Given the description of an element on the screen output the (x, y) to click on. 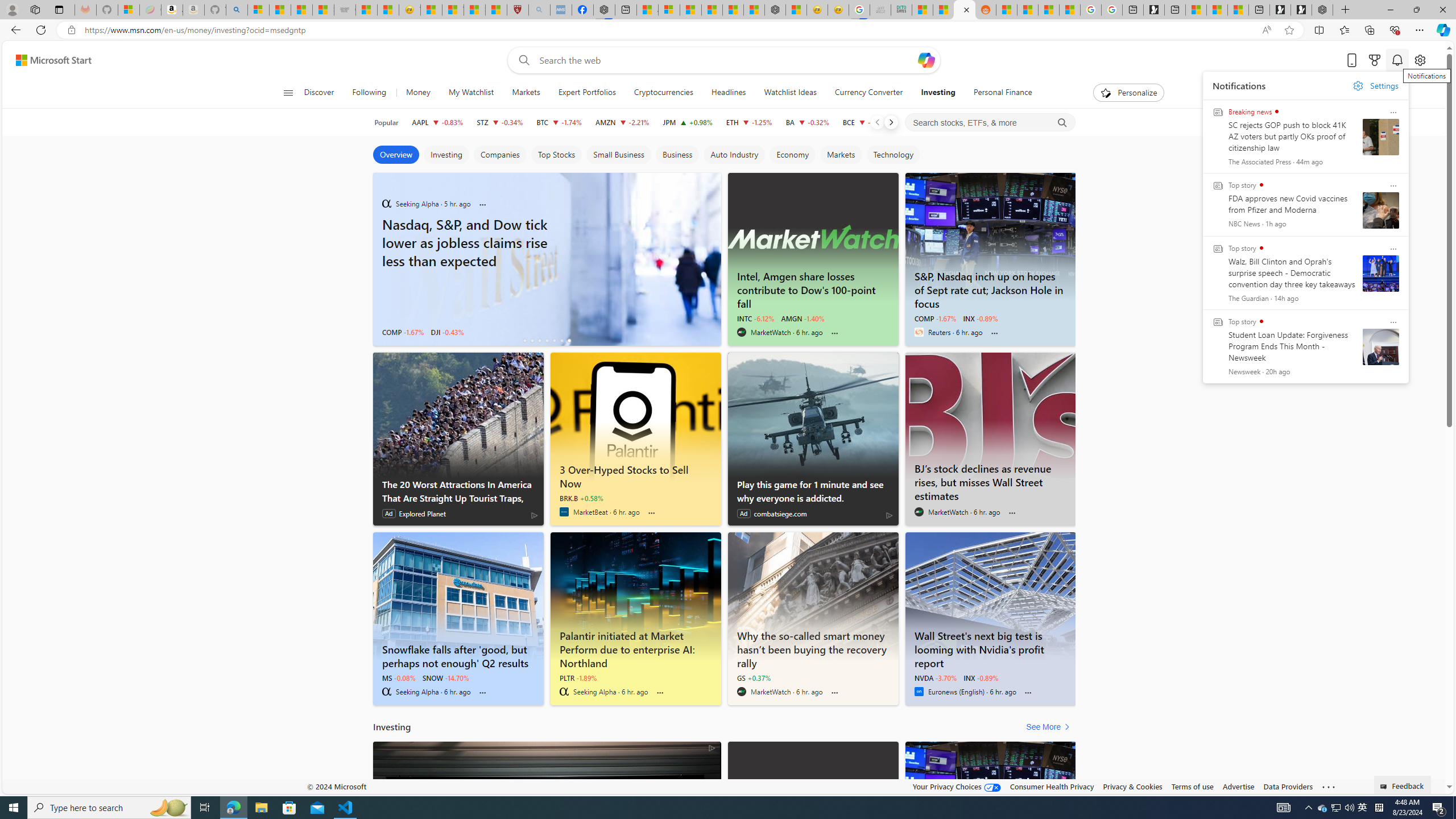
R******* | Trusted Community Engagement and Contributions (1006, 9)
Microsoft-Report a Concern to Bing (128, 9)
Advertise (1238, 785)
ETH Ethereum decrease 2,611.71 -32.54 -1.25% (748, 122)
Advertise (1238, 786)
Play Free Online Games | Games from Microsoft Start (1300, 9)
Terms of use (1192, 785)
